Given the description of an element on the screen output the (x, y) to click on. 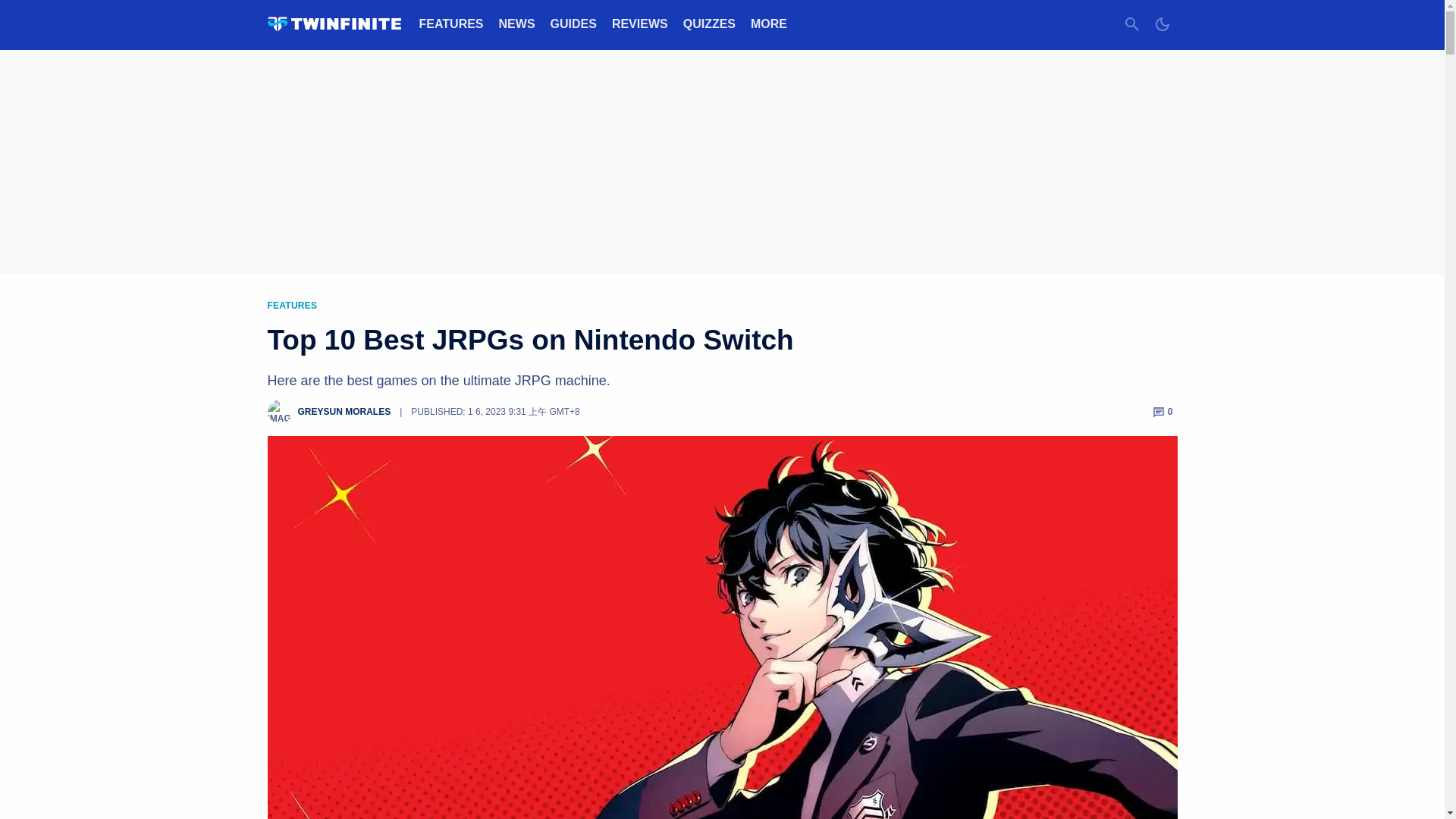
Search (1131, 24)
GUIDES (573, 23)
NEWS (517, 23)
REVIEWS (639, 23)
QUIZZES (708, 23)
Dark Mode (1161, 24)
FEATURES (451, 23)
